Given the description of an element on the screen output the (x, y) to click on. 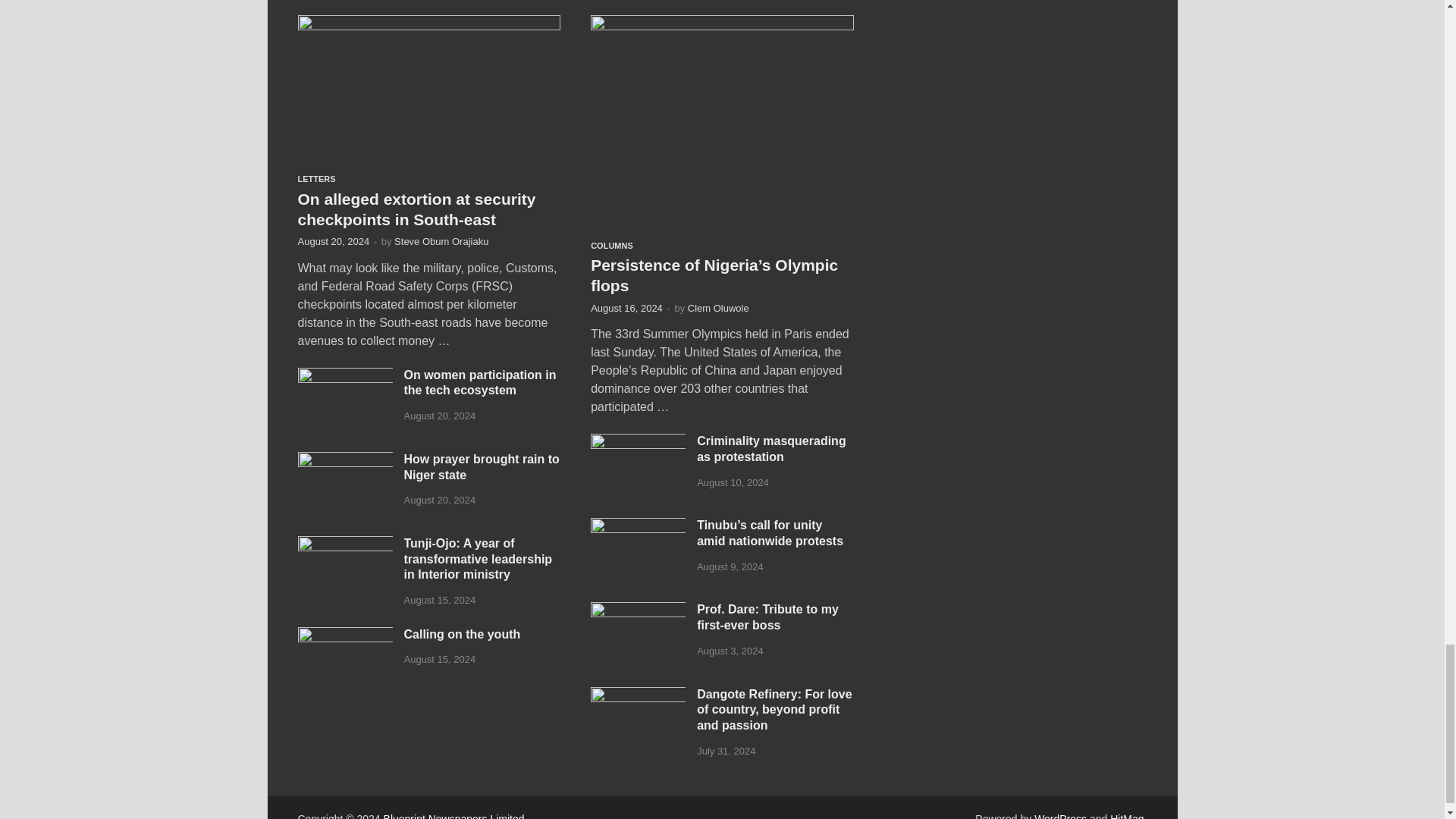
On women participation in the tech ecosystem (344, 376)
How prayer brought rain to Niger state (344, 460)
